Given the description of an element on the screen output the (x, y) to click on. 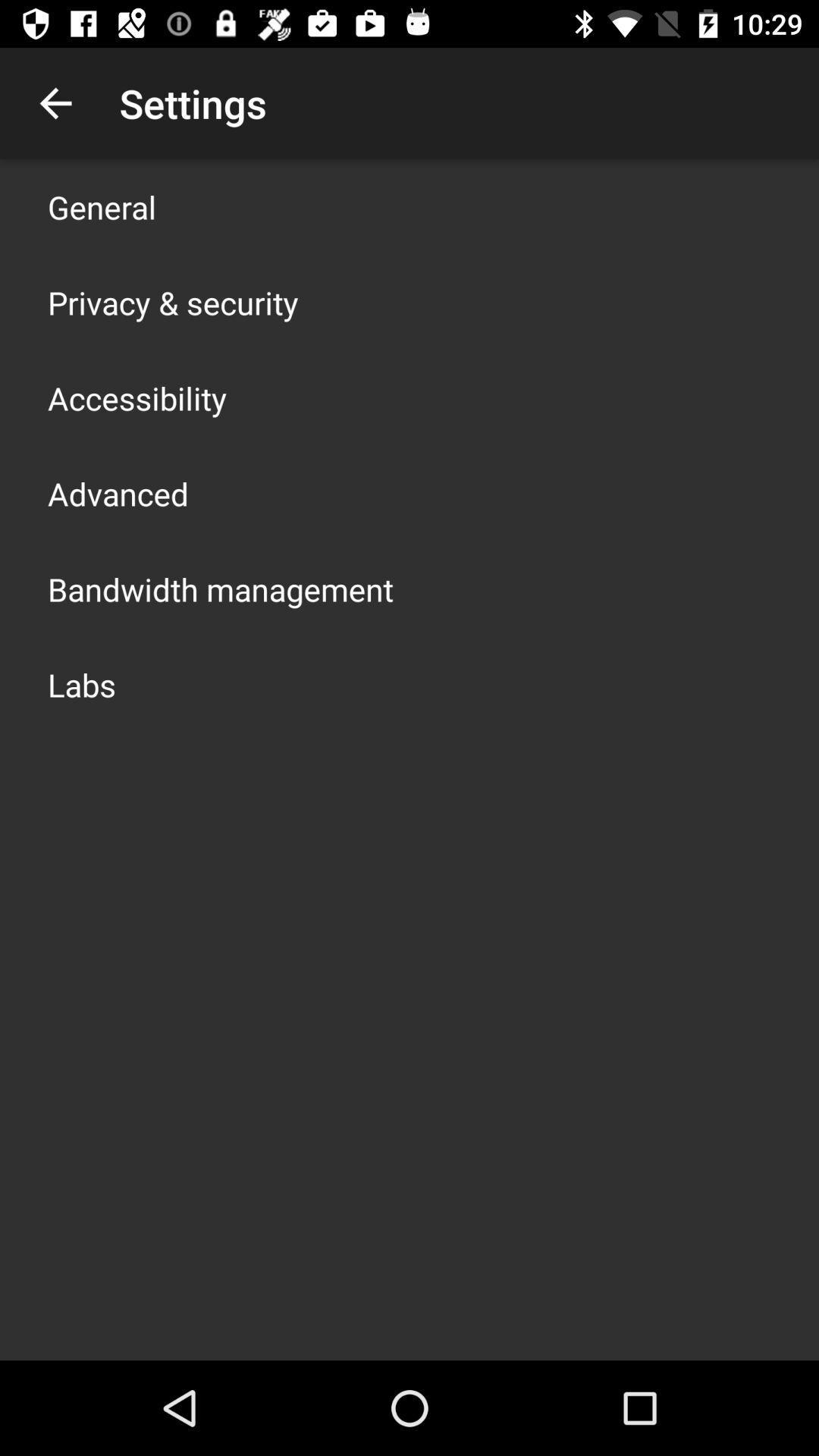
tap the icon above advanced icon (136, 397)
